Given the description of an element on the screen output the (x, y) to click on. 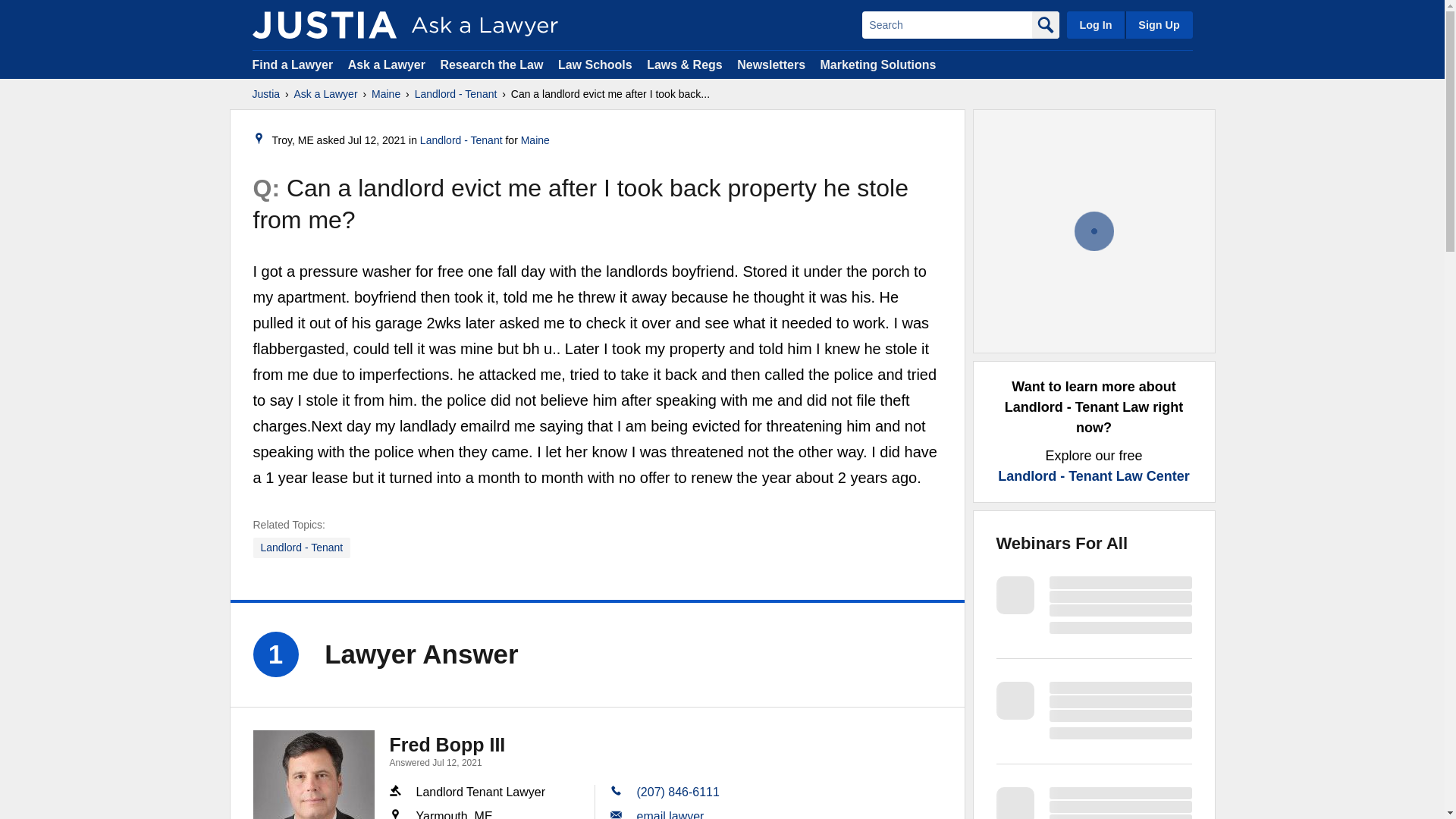
Search (945, 24)
Maine (385, 93)
Fred Bopp III (447, 744)
email lawyer (670, 814)
Ask a Lawyer (326, 93)
Justia (265, 93)
Justia (323, 24)
Maine (535, 140)
Log In (1094, 24)
Marketing Solutions (877, 64)
Landlord - Tenant (461, 140)
Ask a Lawyer (388, 64)
Sign Up (1158, 24)
2021-07-12T16:35:45-07:00 (376, 140)
Fred Bopp III (313, 774)
